Given the description of an element on the screen output the (x, y) to click on. 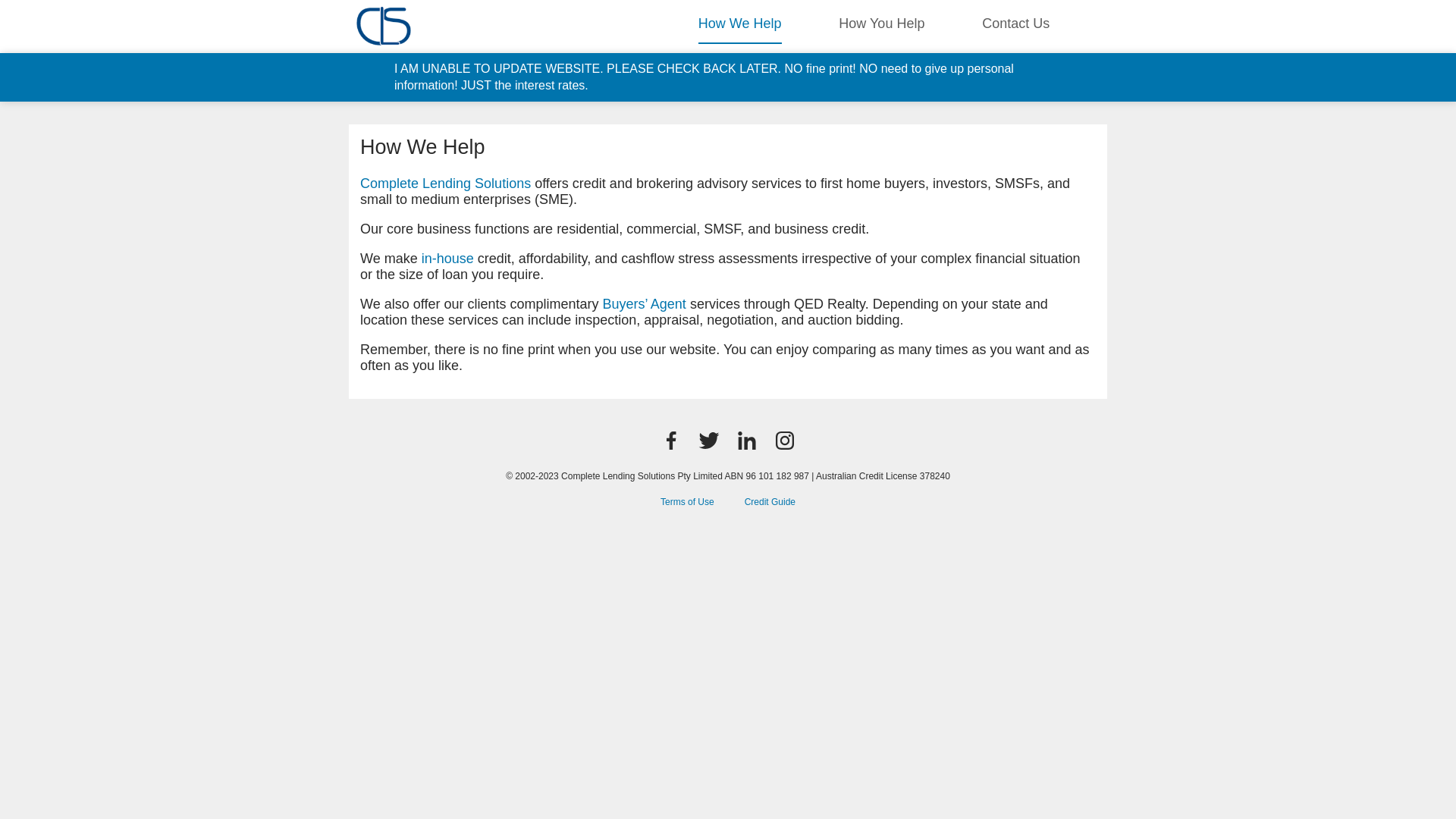
Contact Us Element type: text (1015, 22)
How We Help Element type: text (739, 22)
in-house Element type: text (447, 258)
How You Help Element type: text (881, 22)
Credit Guide Element type: text (769, 501)
Complete Lending Solutions Element type: text (445, 183)
Terms of Use Element type: text (687, 501)
